Given the description of an element on the screen output the (x, y) to click on. 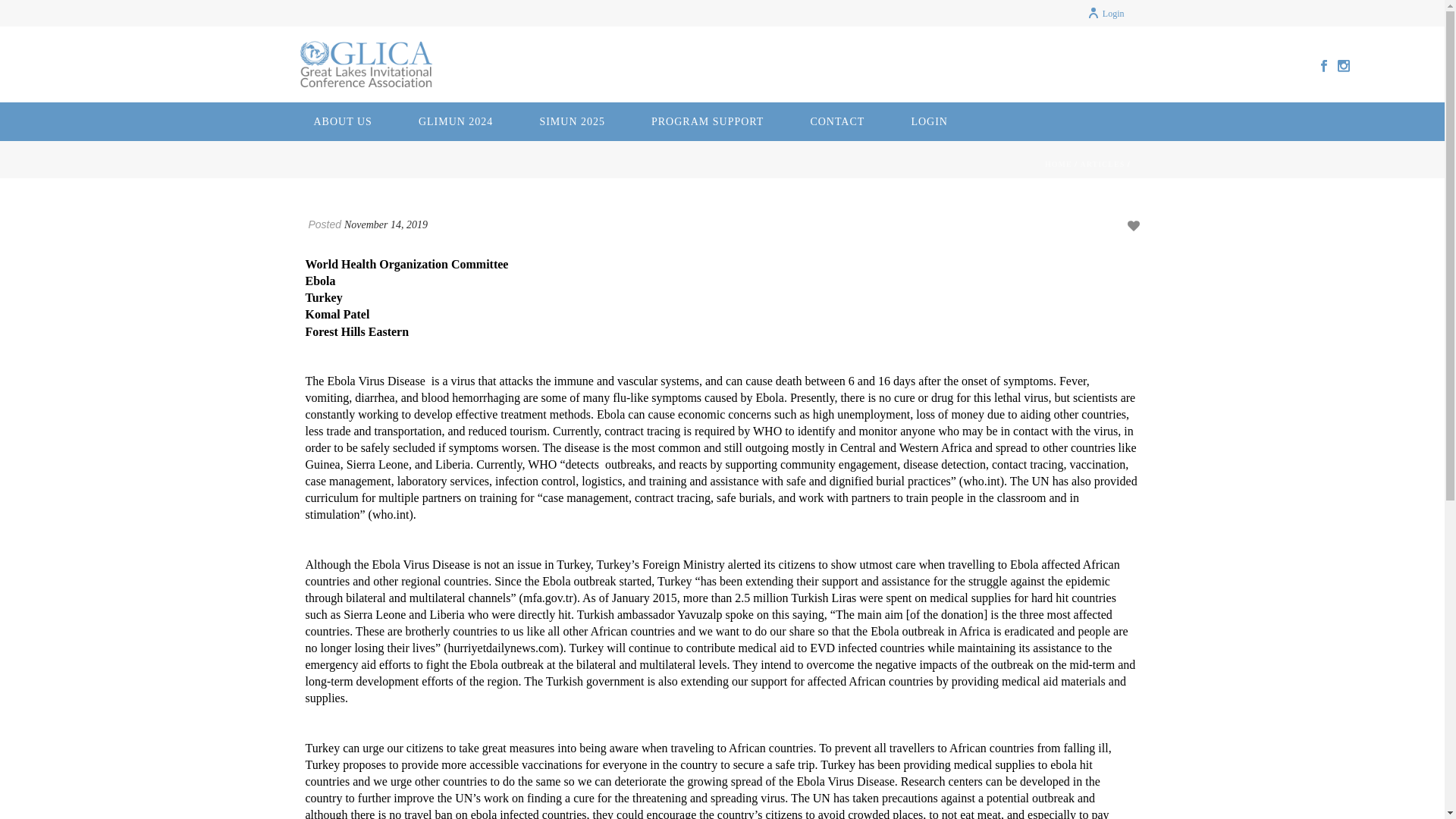
GLIMUN 2024 (456, 121)
PROGRAM SUPPORT (707, 121)
Login (1105, 13)
ARTICLES (1102, 163)
GLIMUN 2024 (456, 121)
LOGIN (929, 121)
PROGRAM SUPPORT (707, 121)
HOME (1058, 163)
GLICA.org (365, 64)
LOGIN (929, 121)
